Given the description of an element on the screen output the (x, y) to click on. 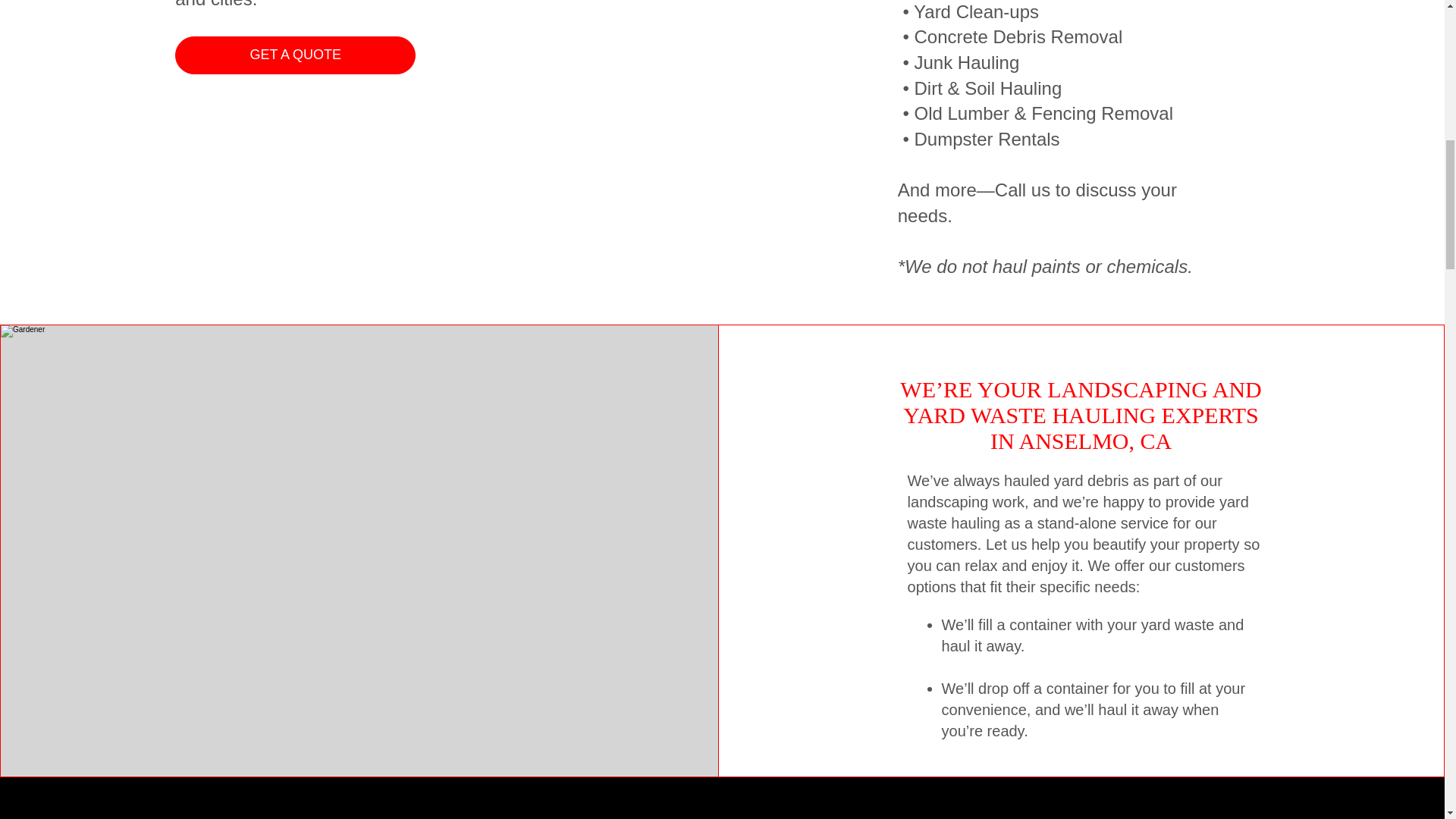
GET A QUOTE (294, 55)
